Given the description of an element on the screen output the (x, y) to click on. 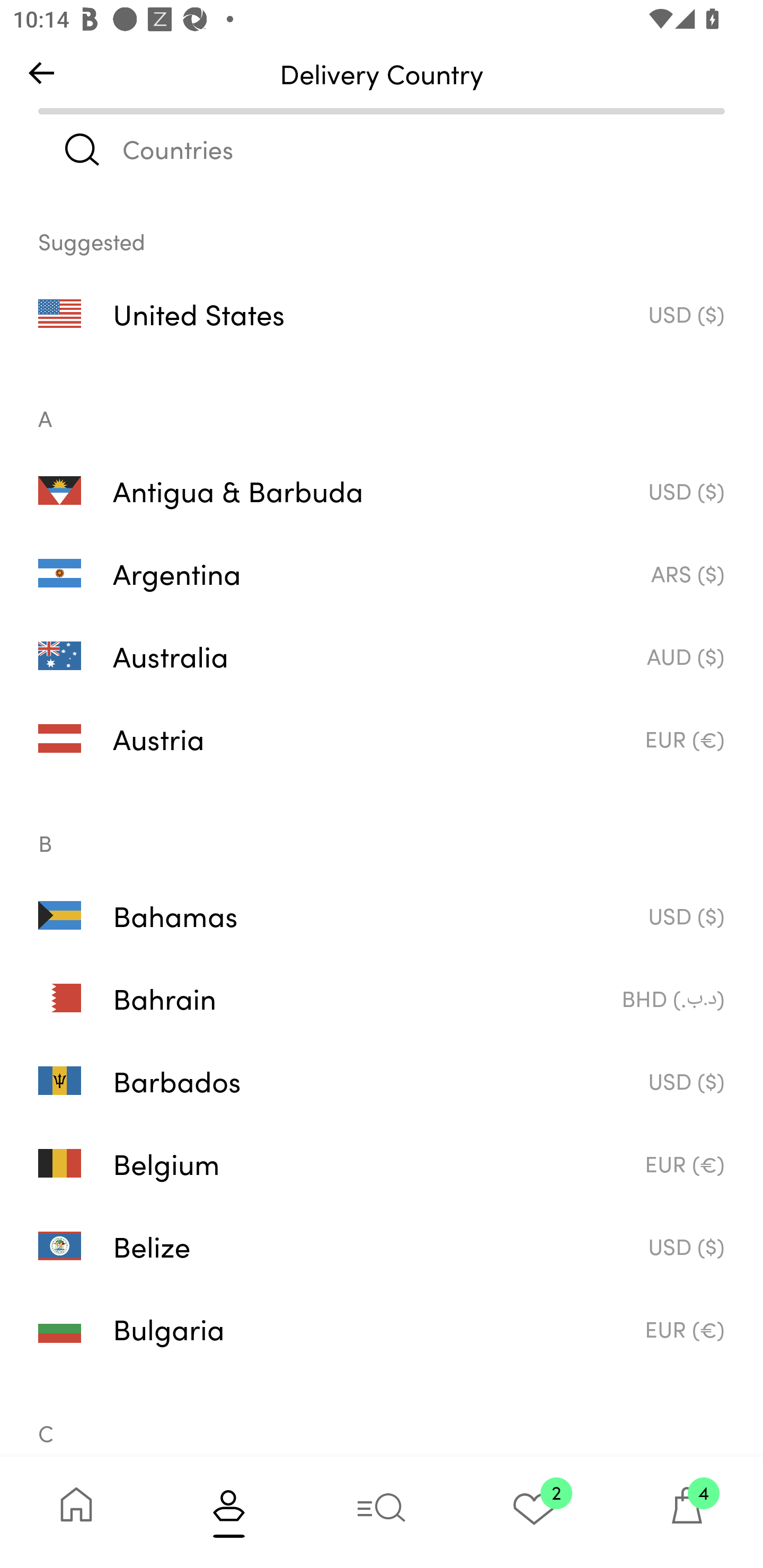
United States USD ($) (381, 313)
Antigua & Barbuda USD ($) (381, 489)
Argentina ARS ($) (381, 572)
Australia AUD ($) (381, 655)
Austria EUR (€) (381, 738)
Bahamas USD ($) (381, 914)
Bahrain BHD (.د.ب) (381, 997)
Barbados USD ($) (381, 1080)
Belgium EUR (€) (381, 1163)
Belize USD ($) (381, 1245)
Bulgaria EUR (€) (381, 1328)
2 (533, 1512)
4 (686, 1512)
